Given the description of an element on the screen output the (x, y) to click on. 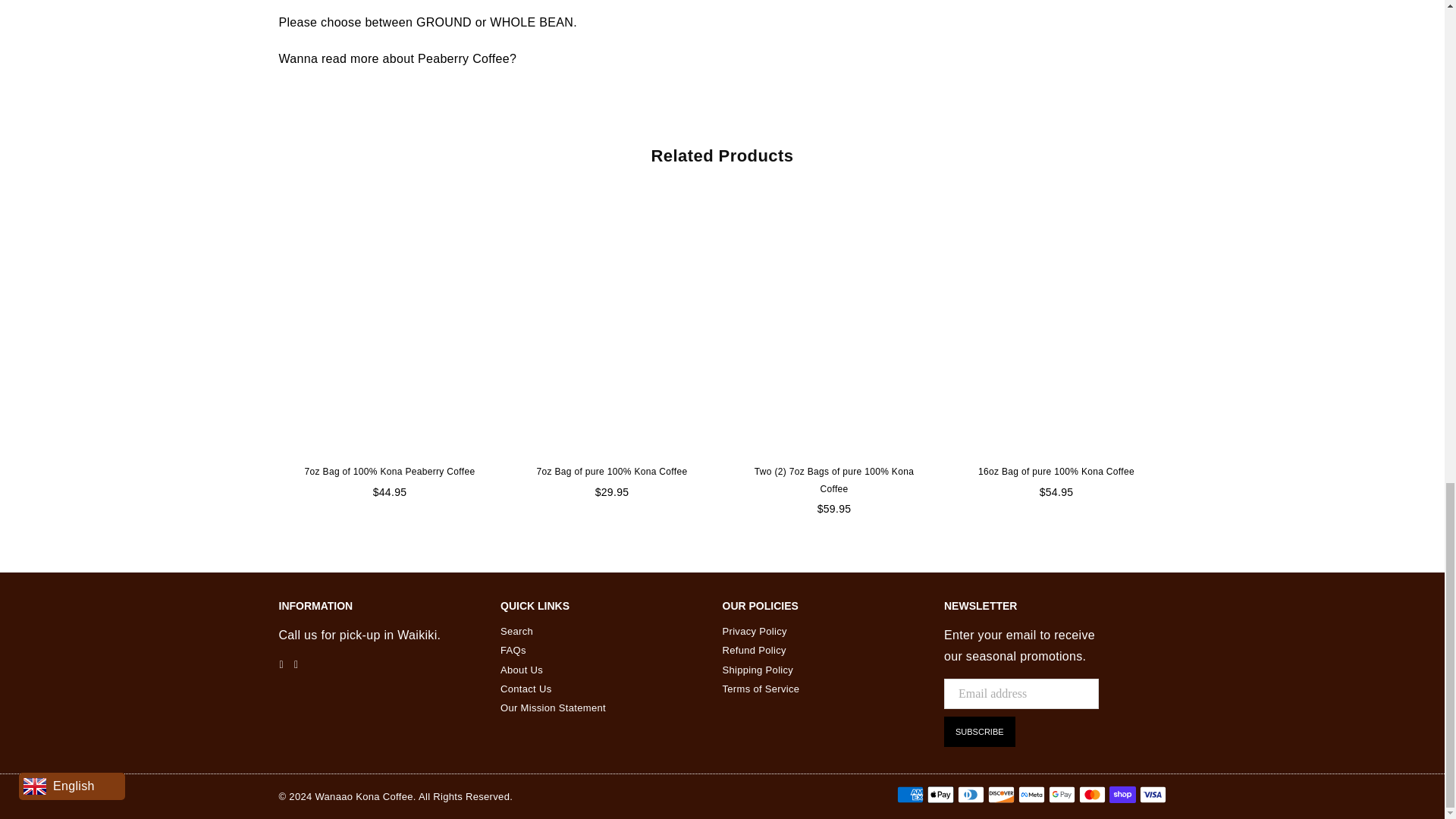
Kona Peaberry Coffee (466, 62)
Apple Pay (939, 794)
Discover (1000, 794)
Google Pay (1061, 794)
American Express (909, 794)
Visa (1152, 794)
Mastercard (1091, 794)
Wana'ao Kona Coffee on Facebook (281, 664)
Diners Club (970, 794)
Shop Pay (1121, 794)
Meta Pay (1030, 794)
Wana'ao Kona Coffee on Instagram (295, 664)
